Given the description of an element on the screen output the (x, y) to click on. 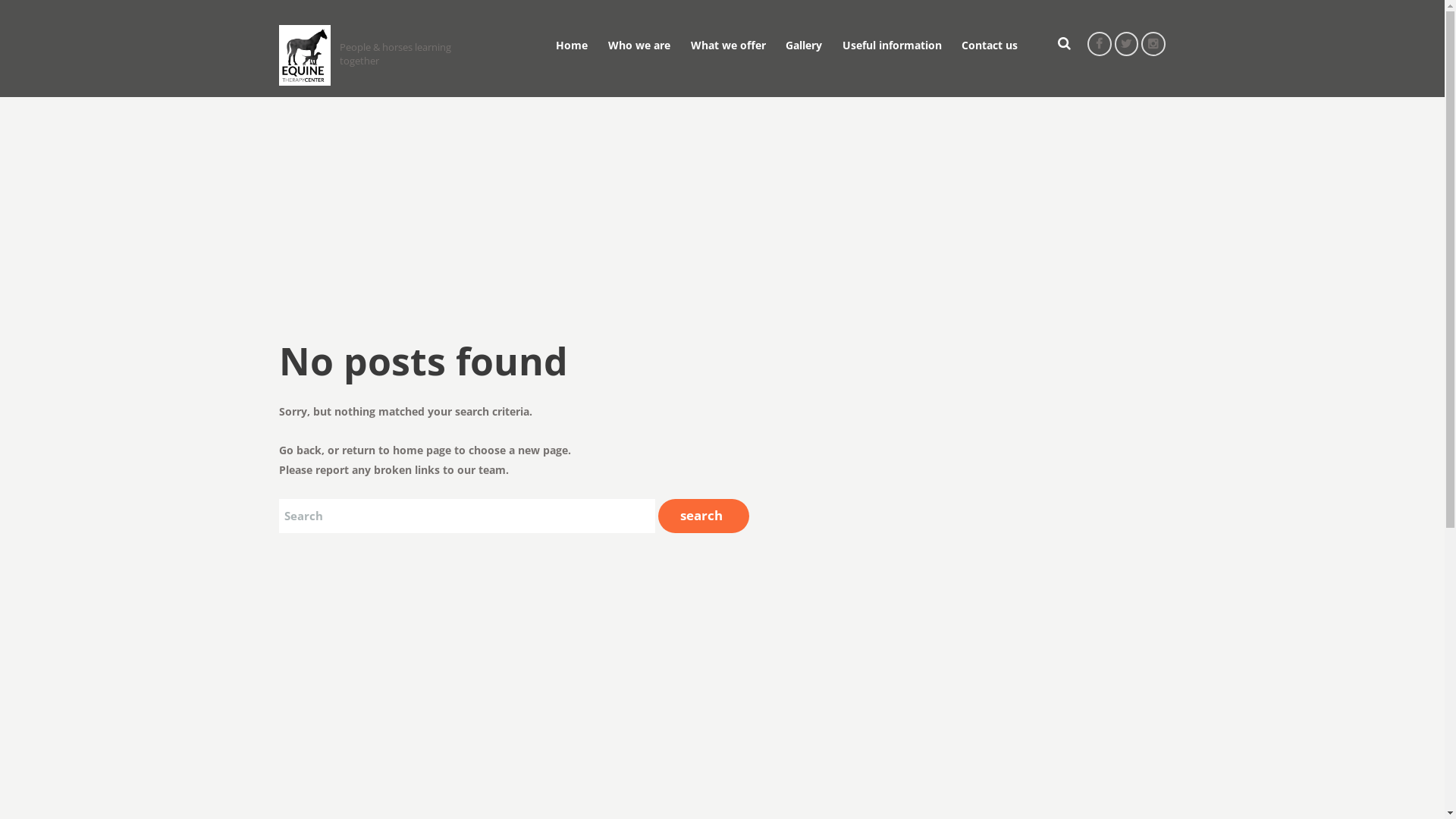
What we offer Element type: text (727, 44)
People & horses learning together Element type: text (373, 59)
Who we are Element type: text (639, 44)
Home Element type: text (571, 44)
Useful information Element type: text (891, 44)
Start search Element type: hover (703, 515)
Contact us Element type: text (989, 44)
Gallery Element type: text (803, 44)
Open search Element type: hover (1056, 43)
